Given the description of an element on the screen output the (x, y) to click on. 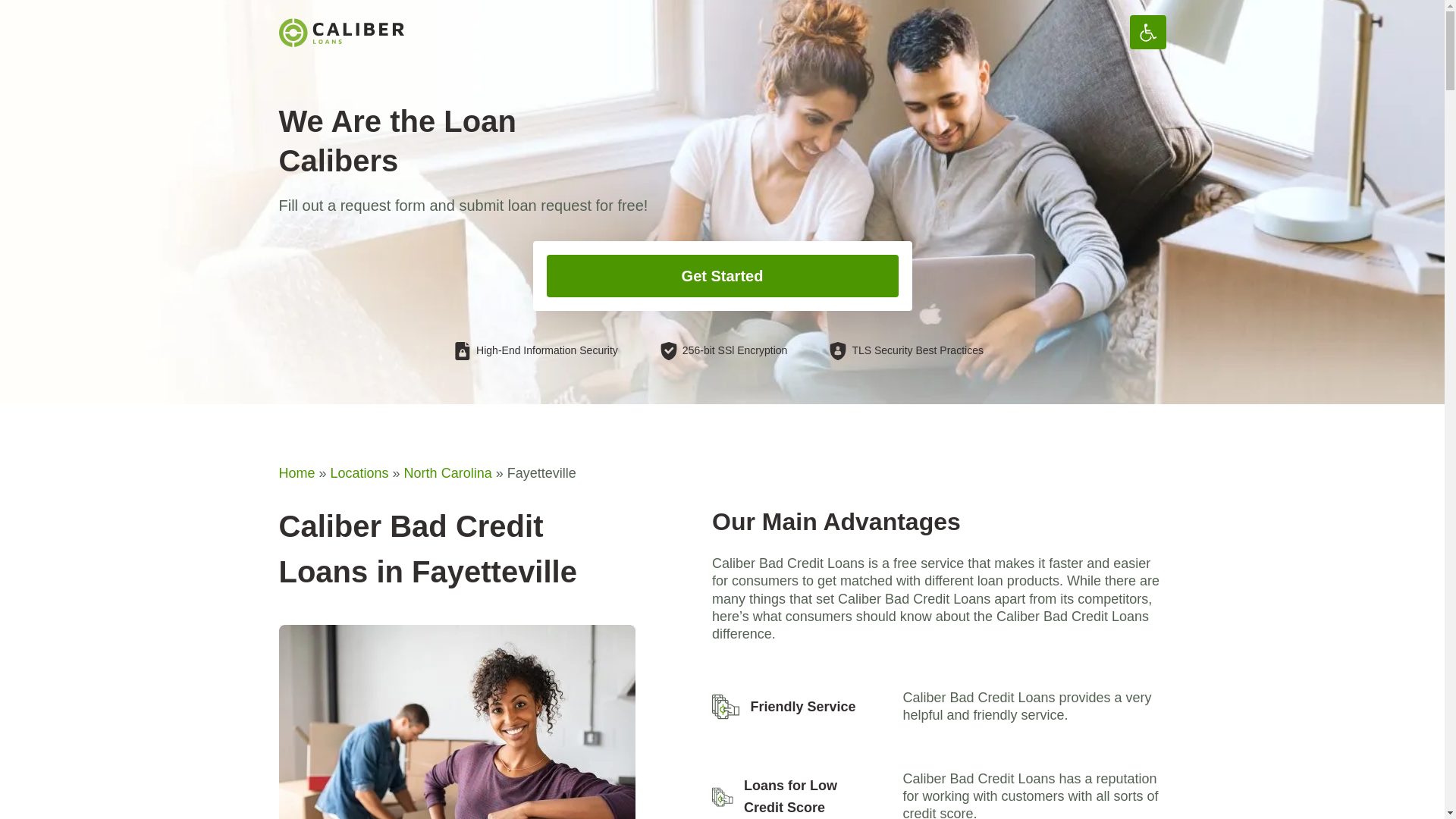
North Carolina (448, 473)
Get Started (722, 275)
Locations (359, 473)
Home (297, 473)
